Given the description of an element on the screen output the (x, y) to click on. 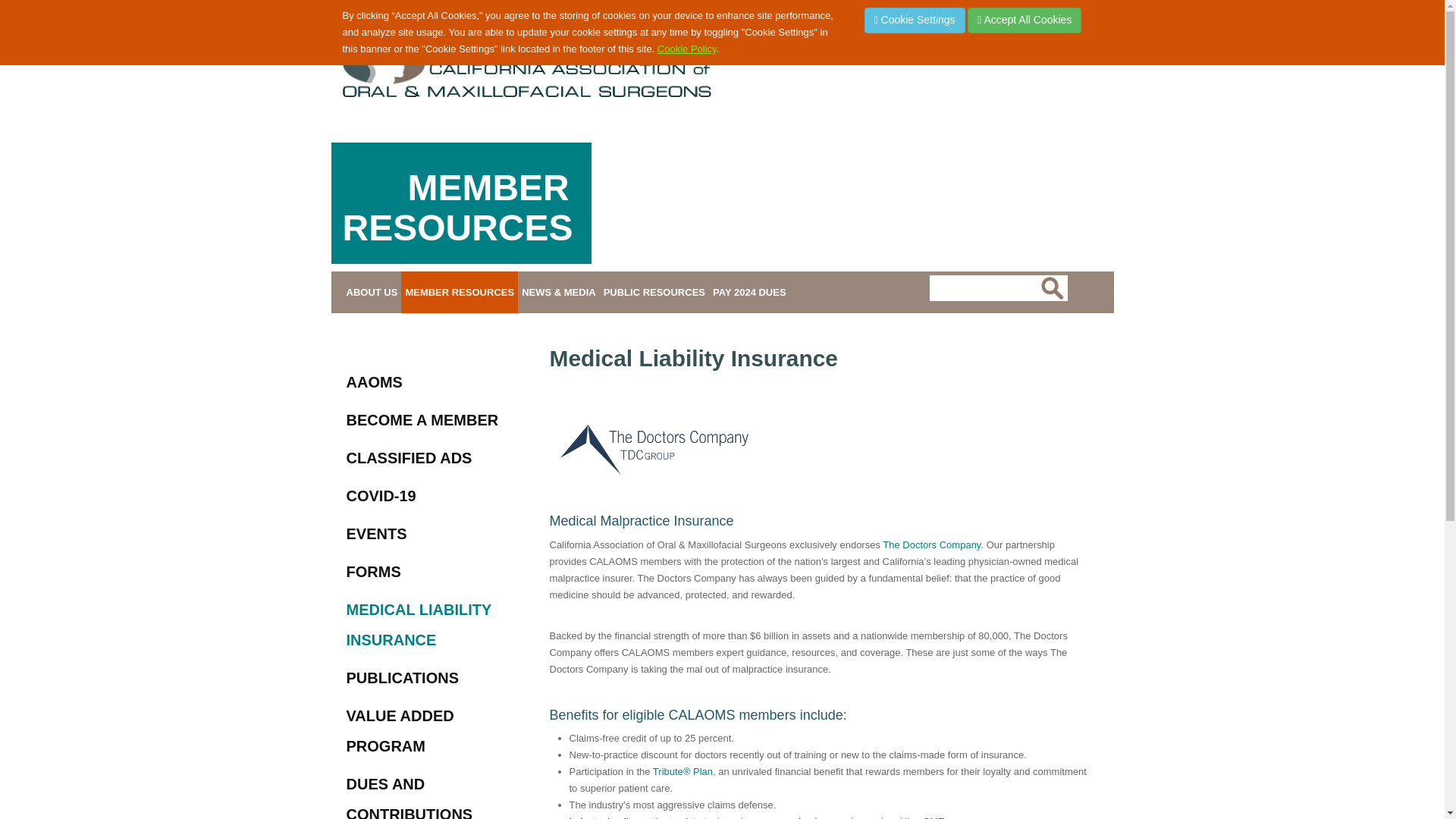
The Doctors Company Logo (653, 449)
Login (1090, 53)
